Given the description of an element on the screen output the (x, y) to click on. 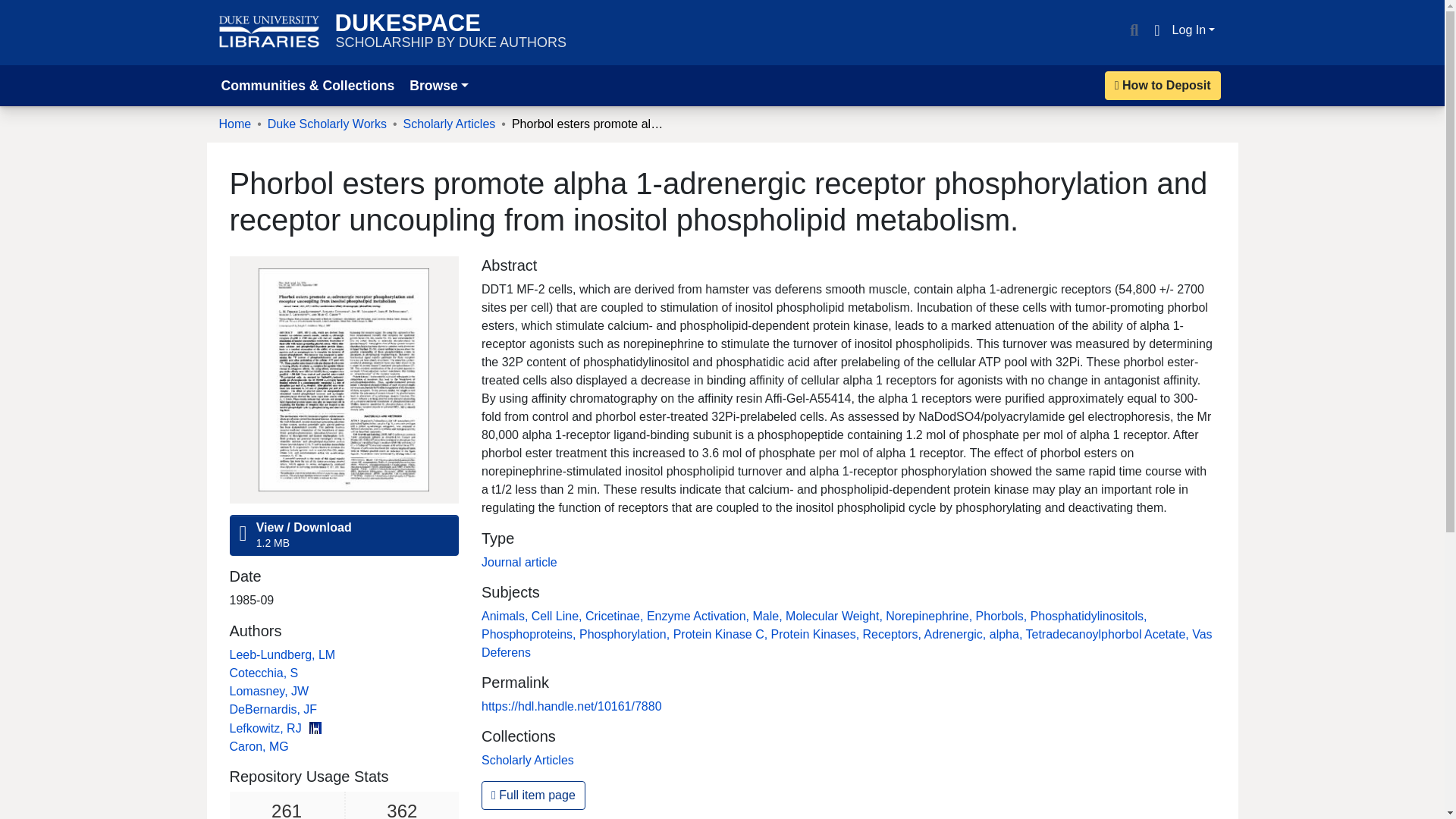
Lomasney, JW (268, 690)
Skip to Main Content (18, 9)
Journal article (519, 562)
Browse (438, 85)
Search (1133, 30)
Caron, MG (258, 746)
Male, (769, 615)
Leeb-Lundberg, LM (281, 654)
Cotecchia, S (263, 672)
Duke University Libraries (269, 32)
How to Deposit (1163, 85)
Scholarly Articles (449, 124)
Cricetinae, (615, 615)
Duke Scholarly Works (327, 124)
Phorbols, (1002, 615)
